Given the description of an element on the screen output the (x, y) to click on. 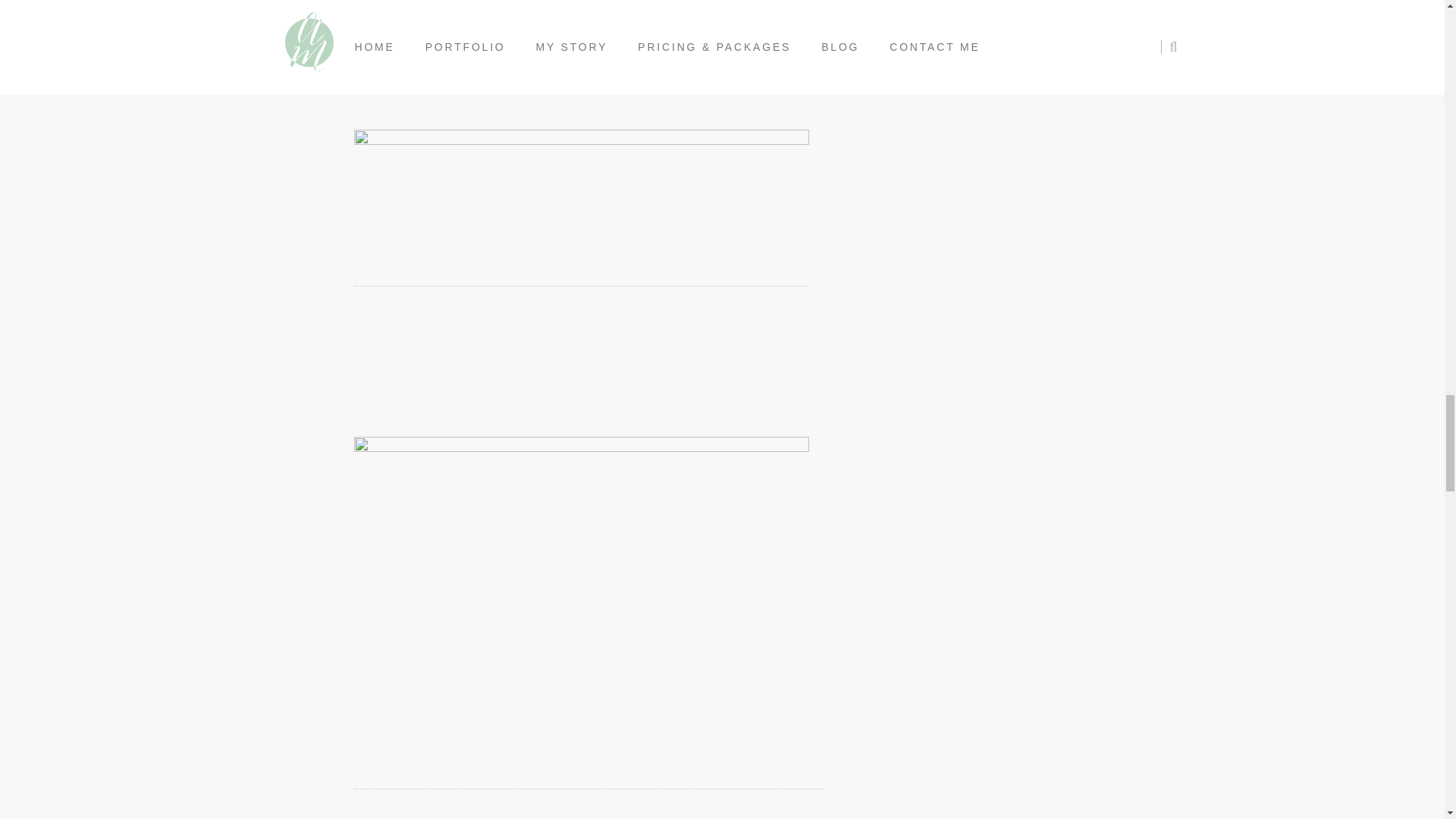
jen-18 (581, 64)
